Given the description of an element on the screen output the (x, y) to click on. 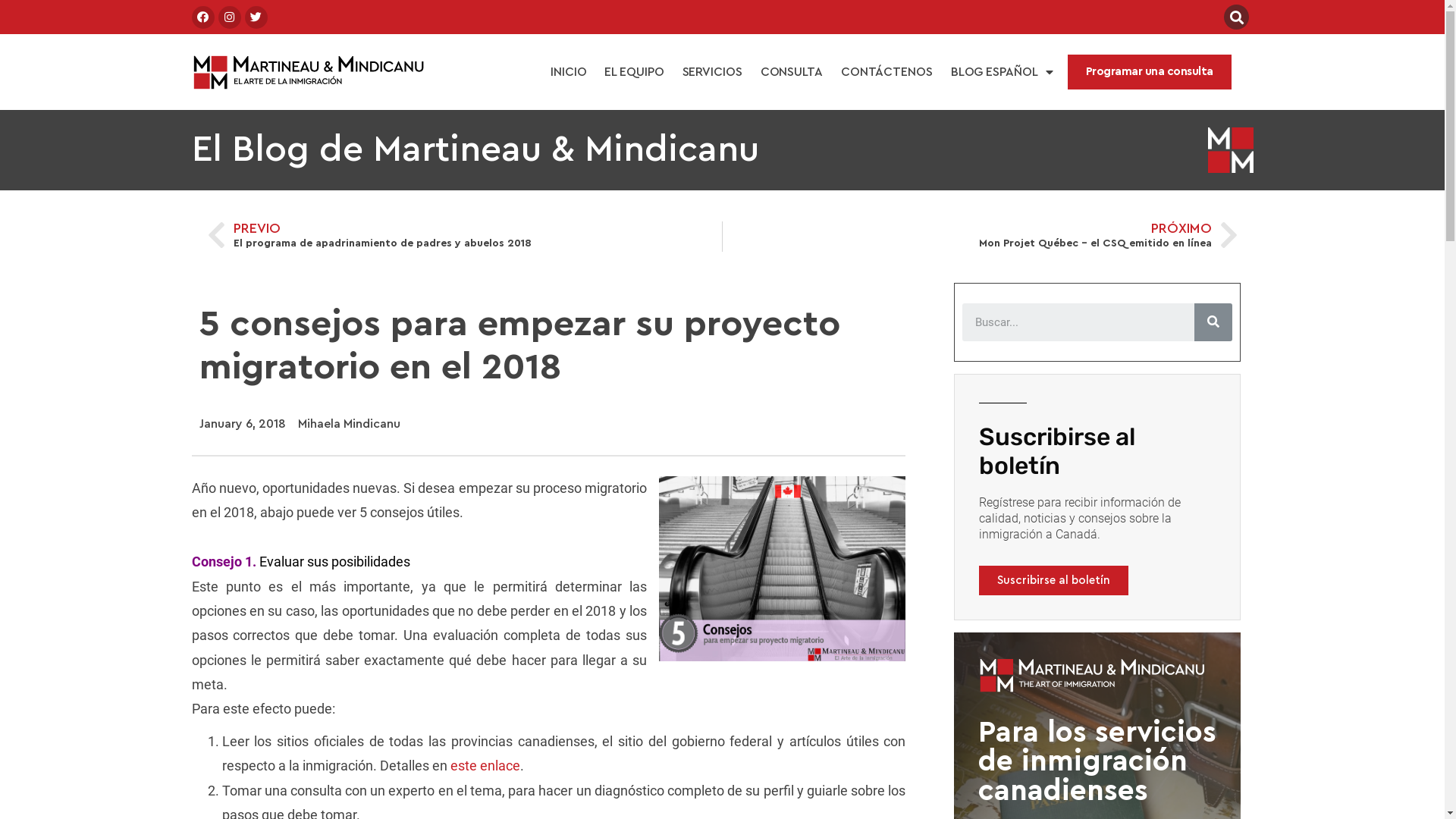
este enlace Element type: text (485, 765)
5 consejos para empezar su proyecto migratorio en el 2018 - Element type: hover (781, 568)
Search Element type: hover (1078, 322)
EL EQUIPO Element type: text (633, 71)
CONSULTA Element type: text (791, 71)
INICIO Element type: text (568, 71)
Mihaela Mindicanu Element type: text (348, 424)
Search Element type: hover (1213, 322)
January 6, 2018 Element type: text (241, 424)
Programar una consulta Element type: text (1149, 72)
SERVICIOS Element type: text (712, 71)
